Given the description of an element on the screen output the (x, y) to click on. 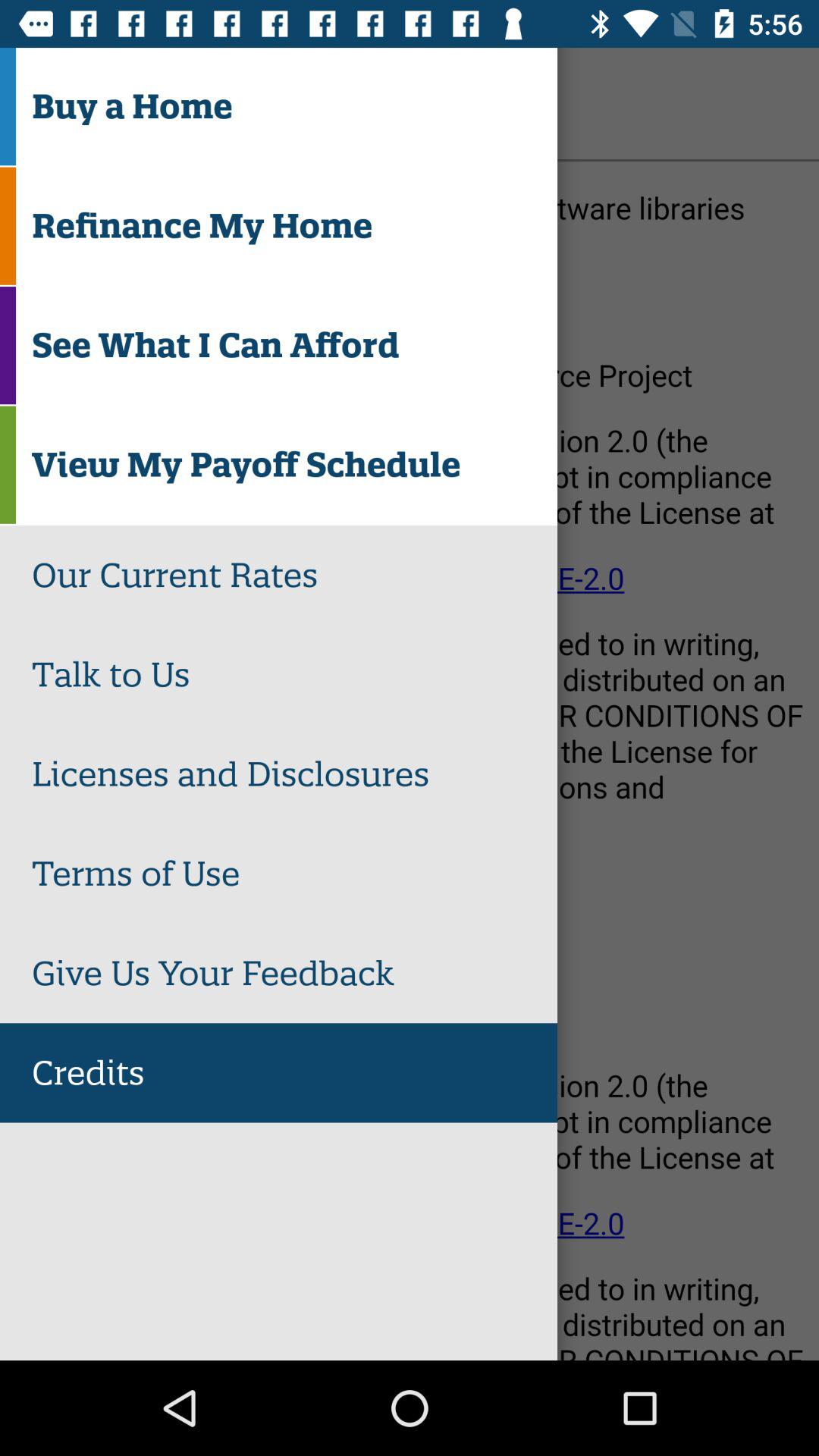
open icon next to the credits (55, 103)
